Given the description of an element on the screen output the (x, y) to click on. 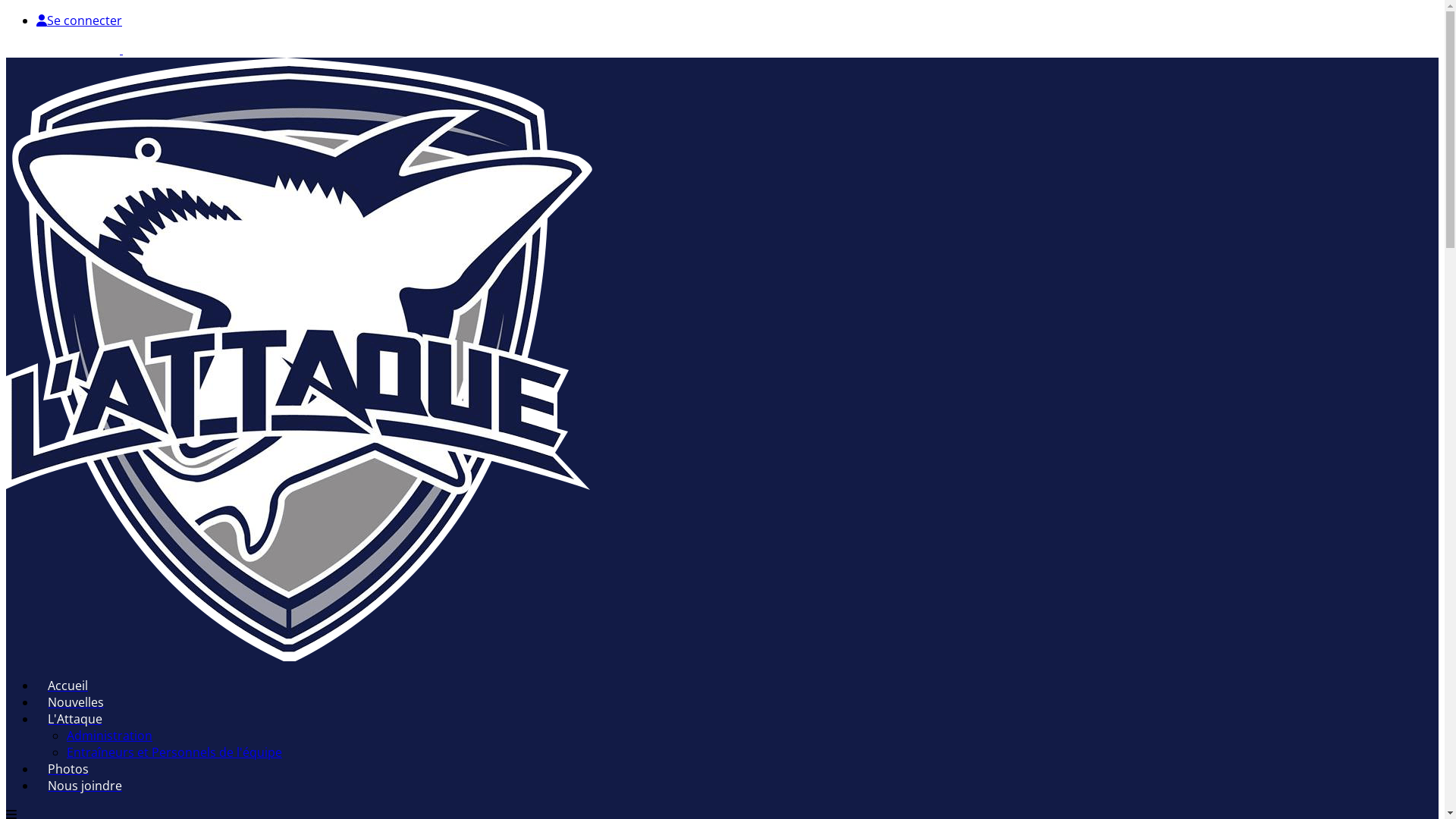
Se connecter Element type: text (79, 20)
Photos Element type: text (68, 768)
Administration Element type: text (109, 735)
Accueil Element type: text (67, 685)
L'Attaque Element type: text (74, 718)
Nouvelles Element type: text (75, 701)
Nous joindre Element type: text (84, 785)
